Given the description of an element on the screen output the (x, y) to click on. 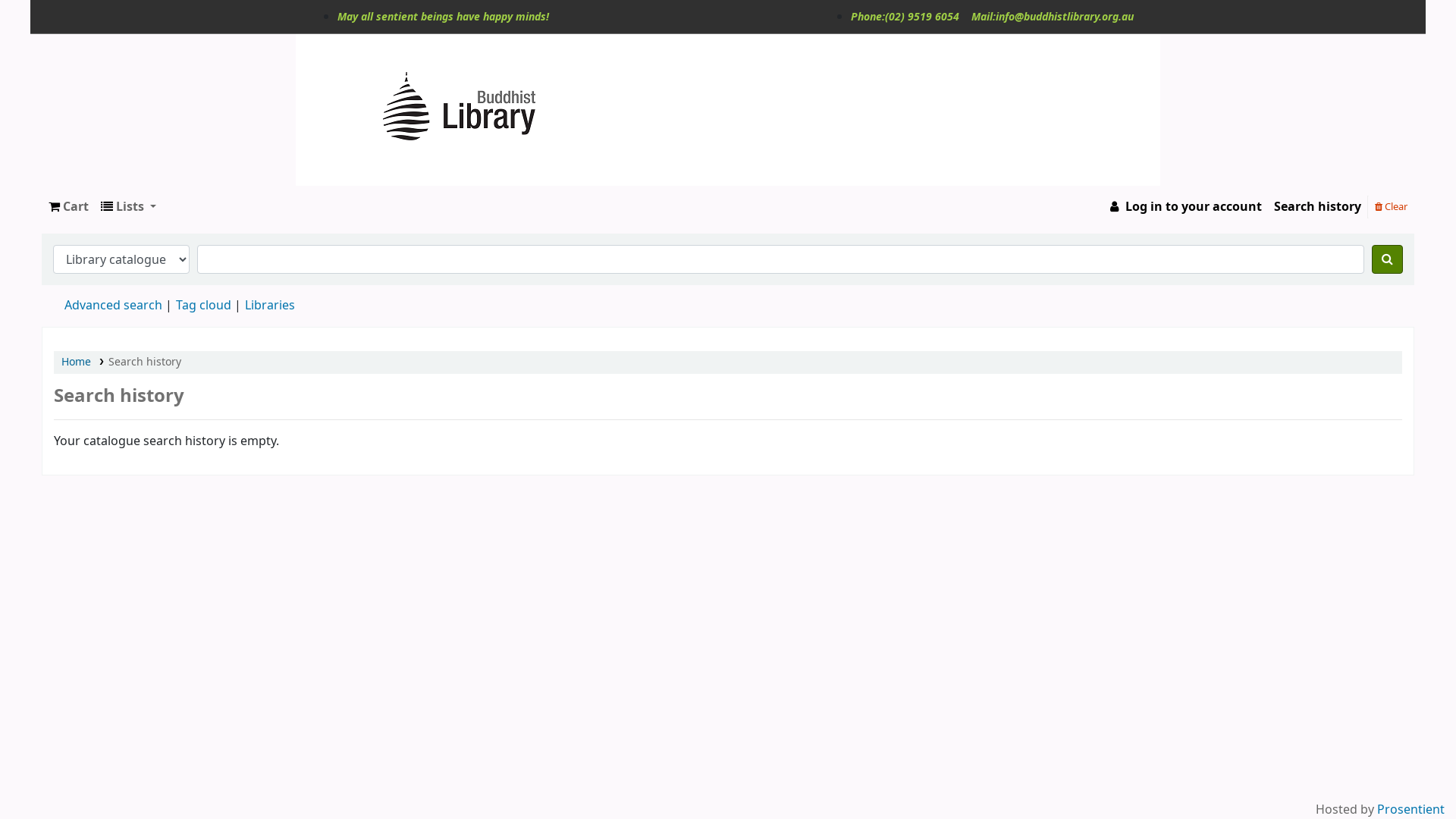
Search Element type: hover (1386, 258)
Advanced search Element type: text (113, 305)
Tag cloud Element type: text (203, 305)
Lists Element type: text (128, 206)
Libraries Element type: text (269, 305)
Search history Element type: text (1317, 206)
Cart Element type: text (68, 206)
info@buddhistlibrary.org.au Element type: text (1064, 17)
Log in to your account Element type: text (1183, 206)
Clear Element type: text (1390, 205)
Home Element type: text (76, 362)
Search history Element type: text (144, 362)
